Given the description of an element on the screen output the (x, y) to click on. 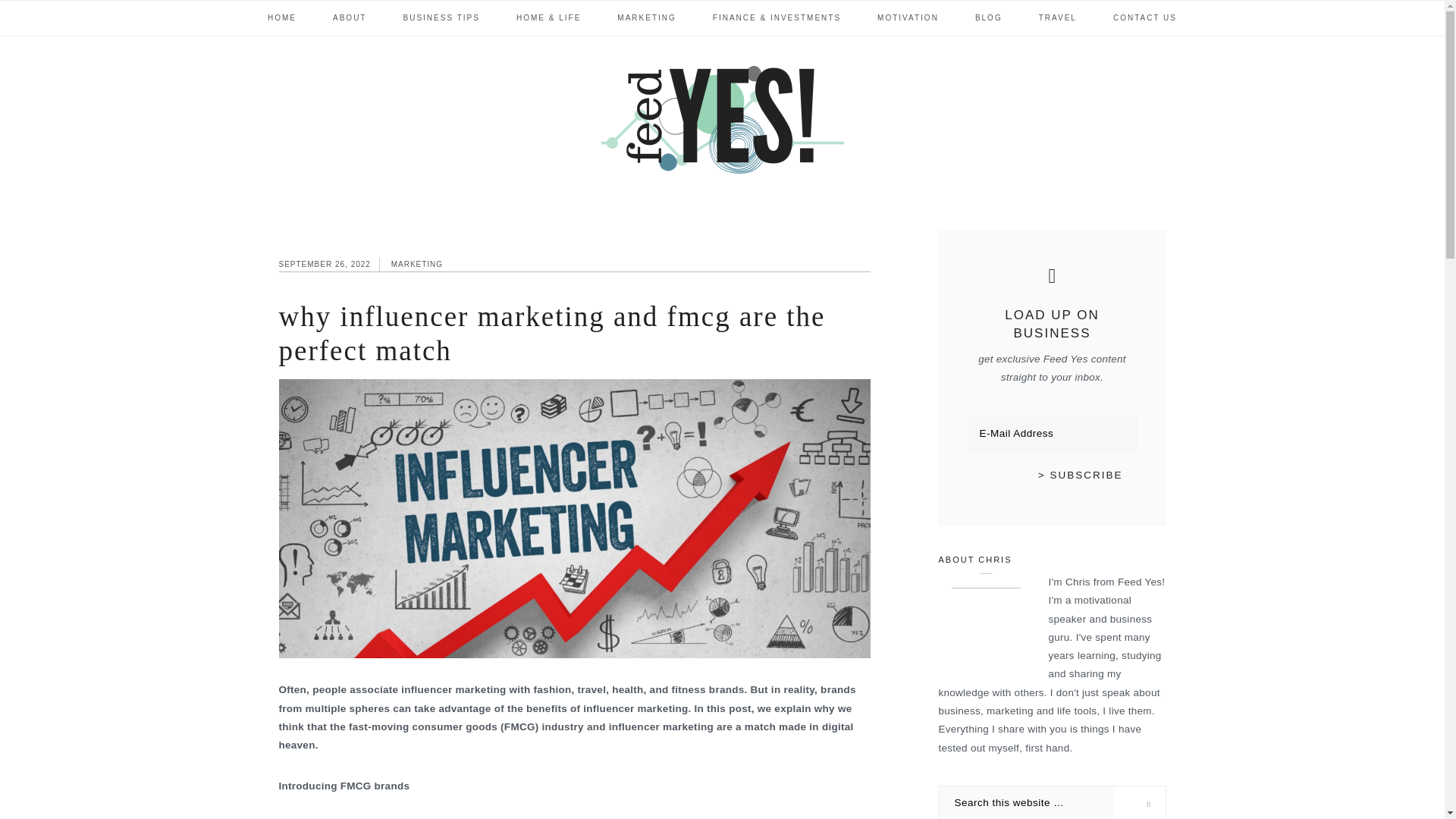
BLOG (988, 18)
feed yes (721, 116)
ABOUT (349, 18)
HOME (281, 18)
MARKETING (646, 18)
BUSINESS TIPS (440, 18)
TRAVEL (1057, 18)
CONTACT US (1145, 18)
MARKETING (416, 264)
MOTIVATION (908, 18)
